Given the description of an element on the screen output the (x, y) to click on. 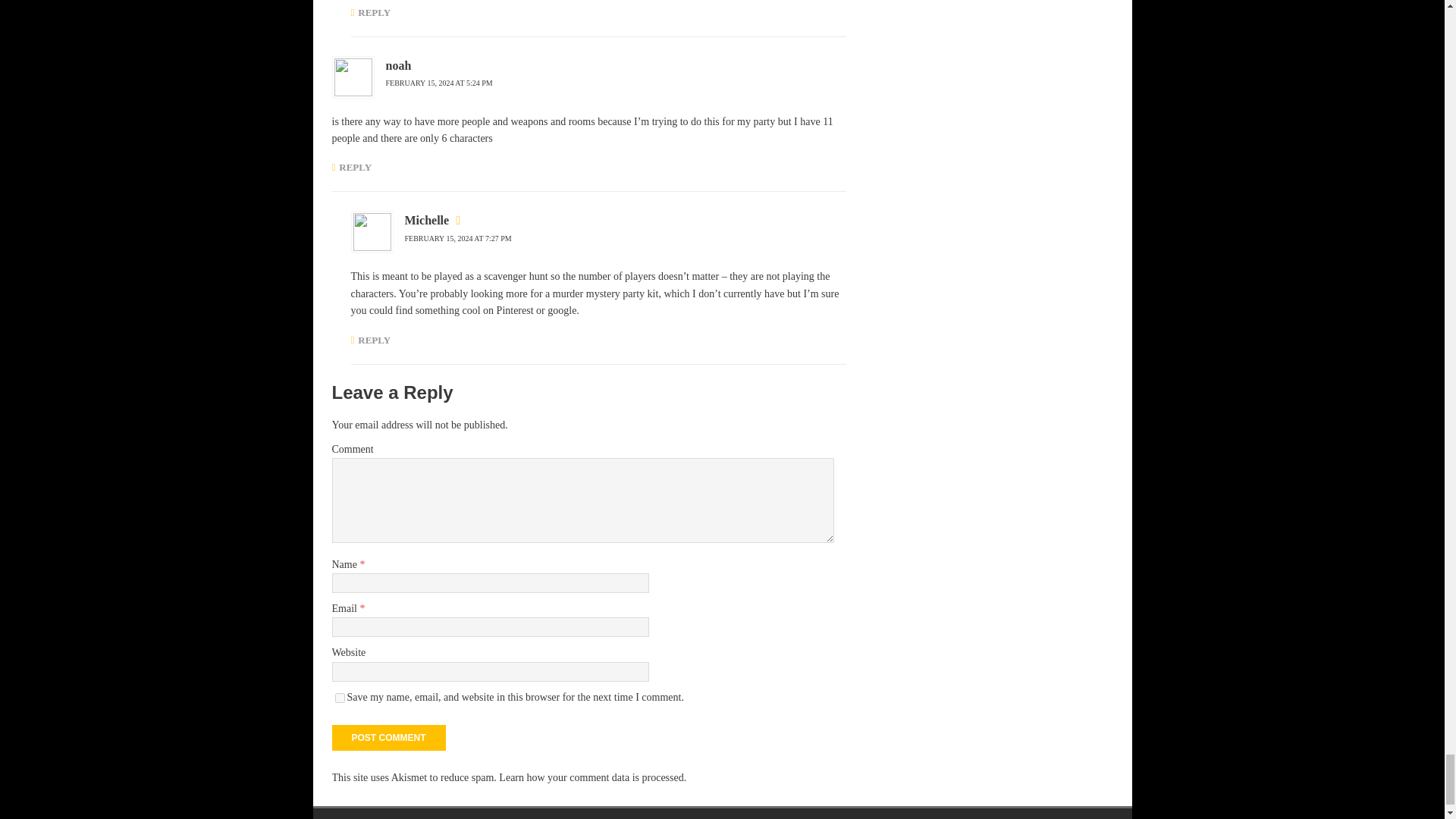
Post Comment (388, 737)
yes (339, 697)
